Given the description of an element on the screen output the (x, y) to click on. 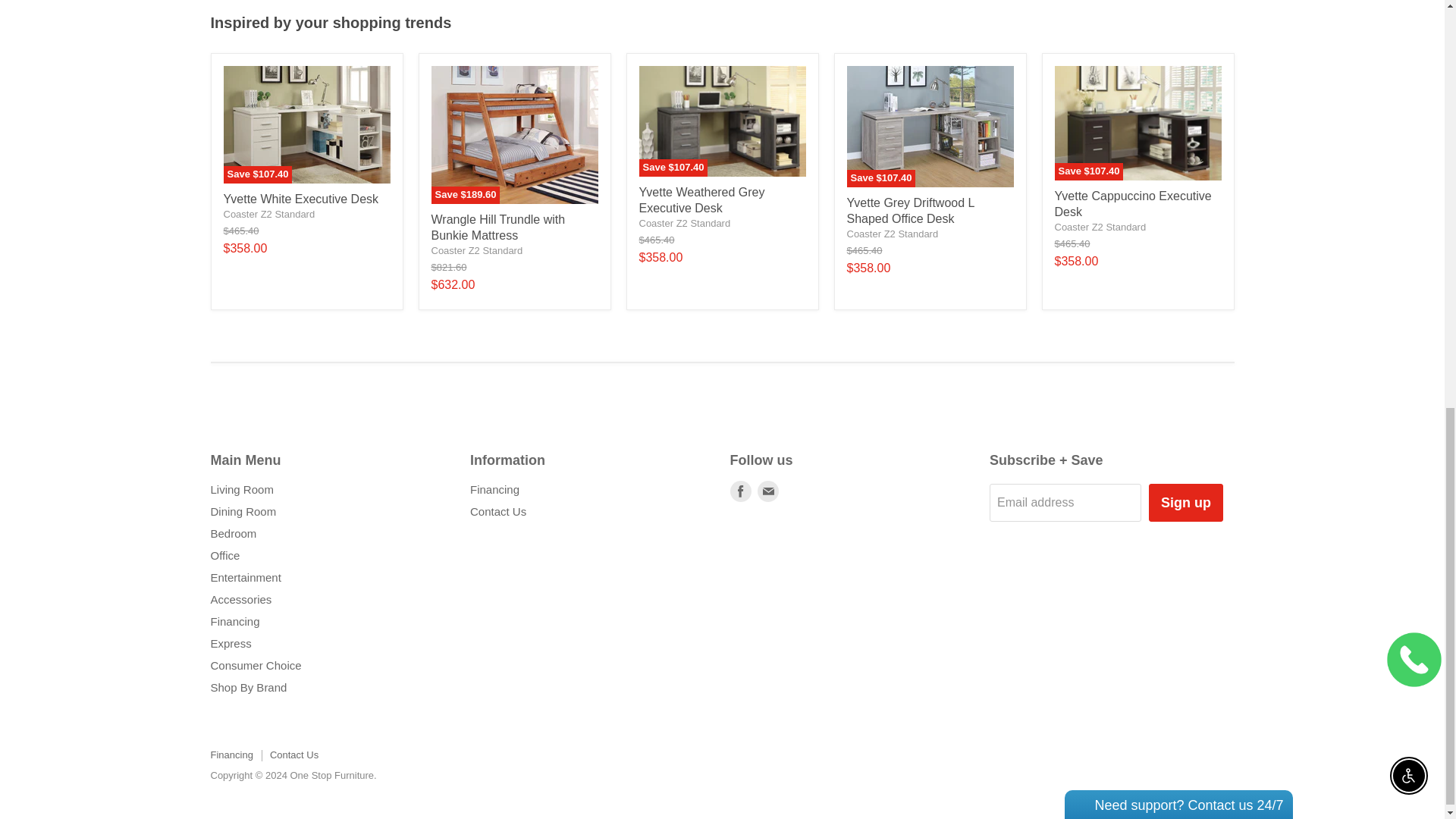
Coaster Z2 Standard (476, 250)
Coaster Z2 Standard (1099, 226)
Facebook (740, 491)
Click to minimize (1187, 31)
Click to popout into a new window (1205, 31)
Coaster Z2 Standard (891, 233)
Coaster Z2 Standard (268, 214)
E-mail (767, 491)
Coaster Z2 Standard (684, 223)
